Given the description of an element on the screen output the (x, y) to click on. 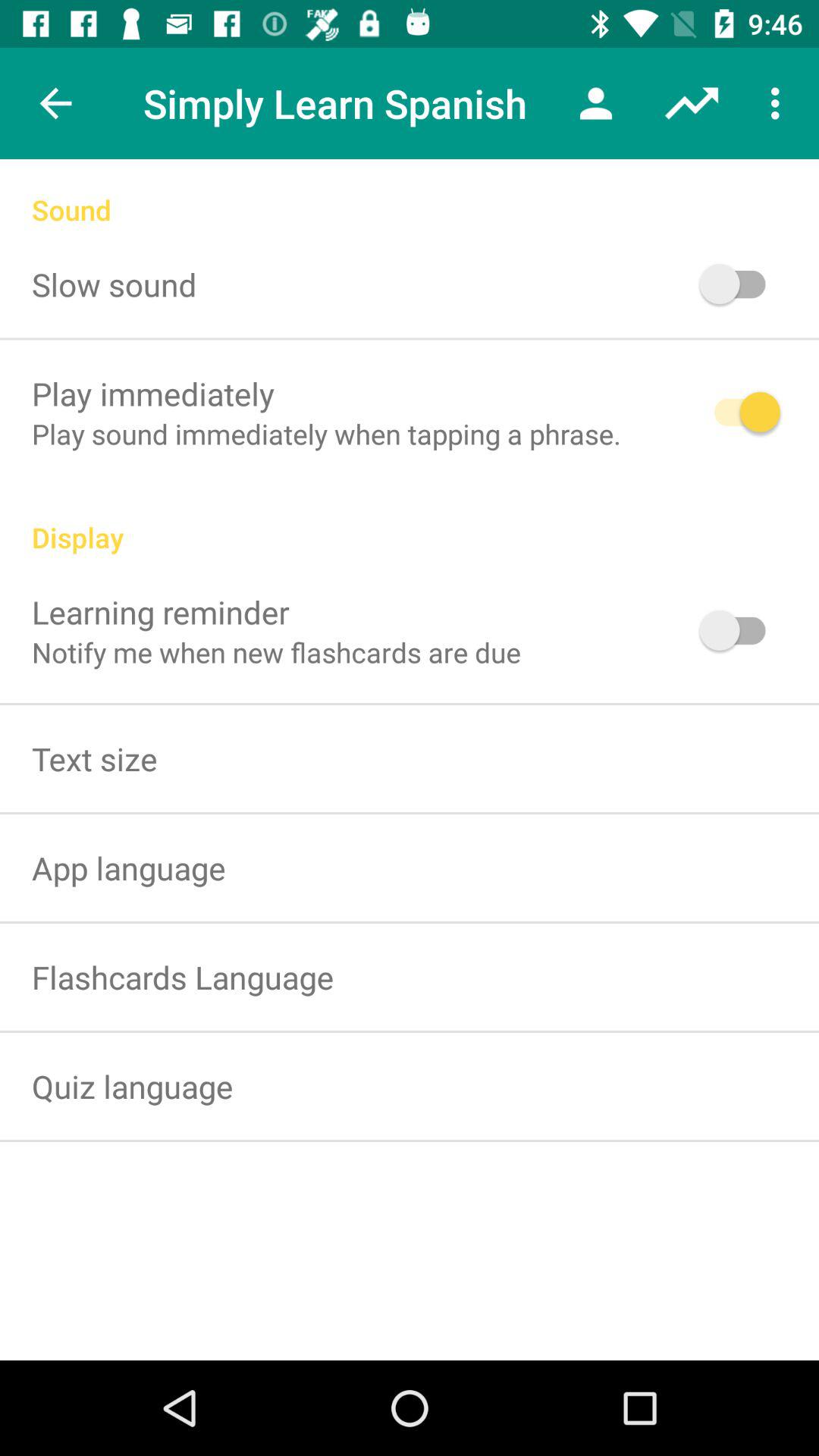
choose item above the sound icon (779, 103)
